Given the description of an element on the screen output the (x, y) to click on. 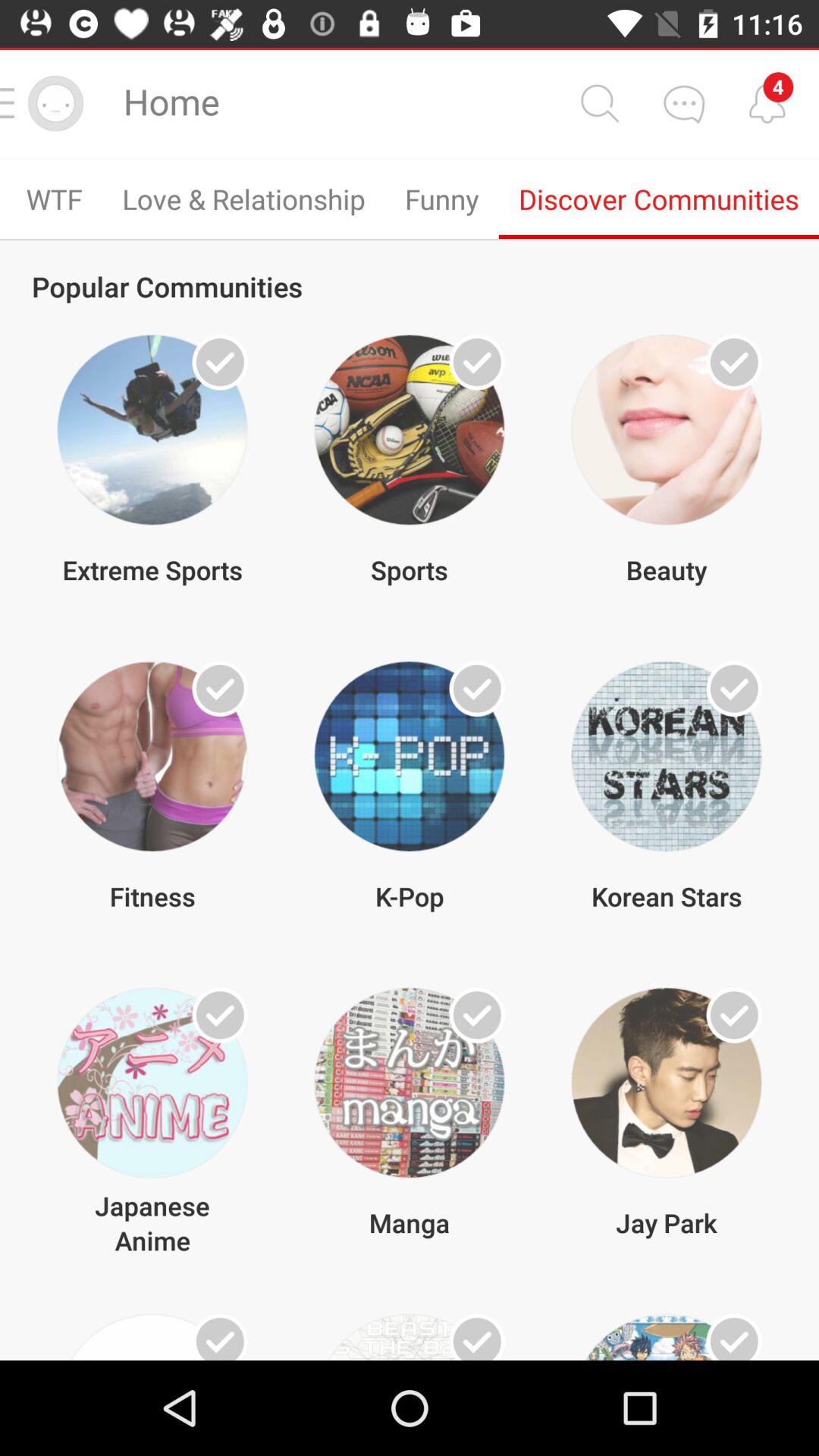
select option (219, 362)
